Given the description of an element on the screen output the (x, y) to click on. 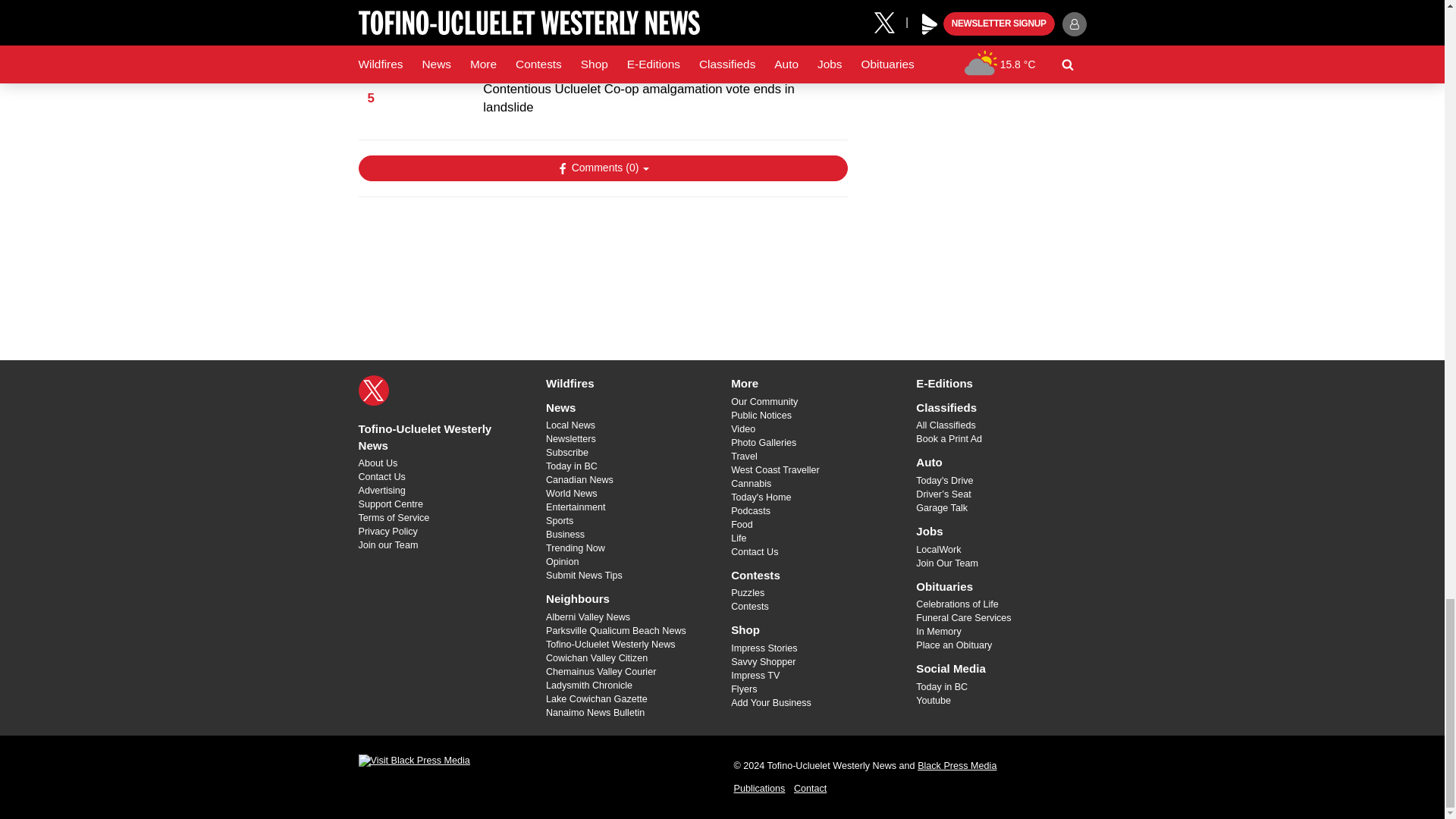
X (373, 390)
Show Comments (602, 167)
